Given the description of an element on the screen output the (x, y) to click on. 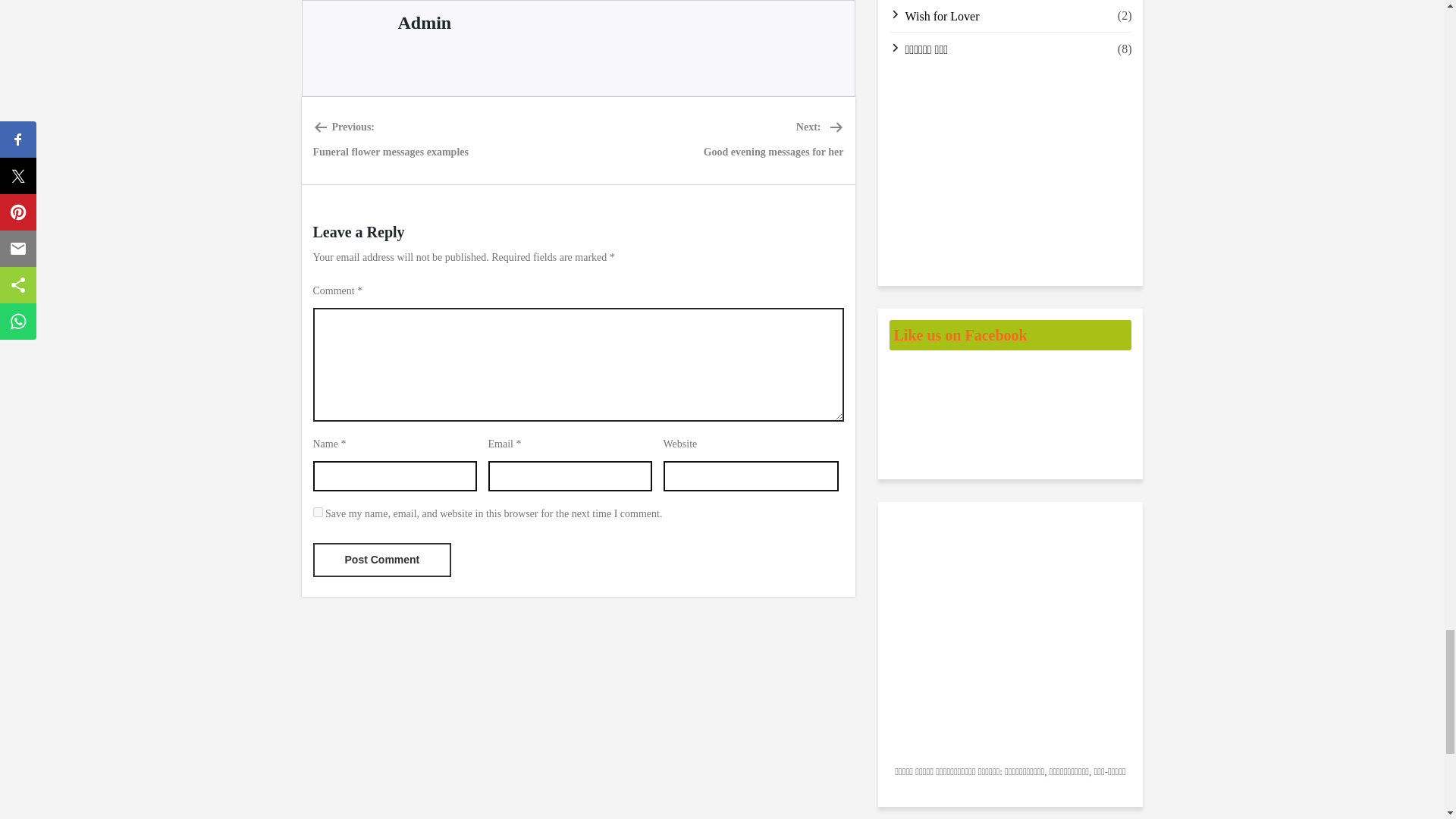
yes (390, 140)
Post Comment (317, 511)
Admin (773, 140)
Post Comment (382, 559)
